Given the description of an element on the screen output the (x, y) to click on. 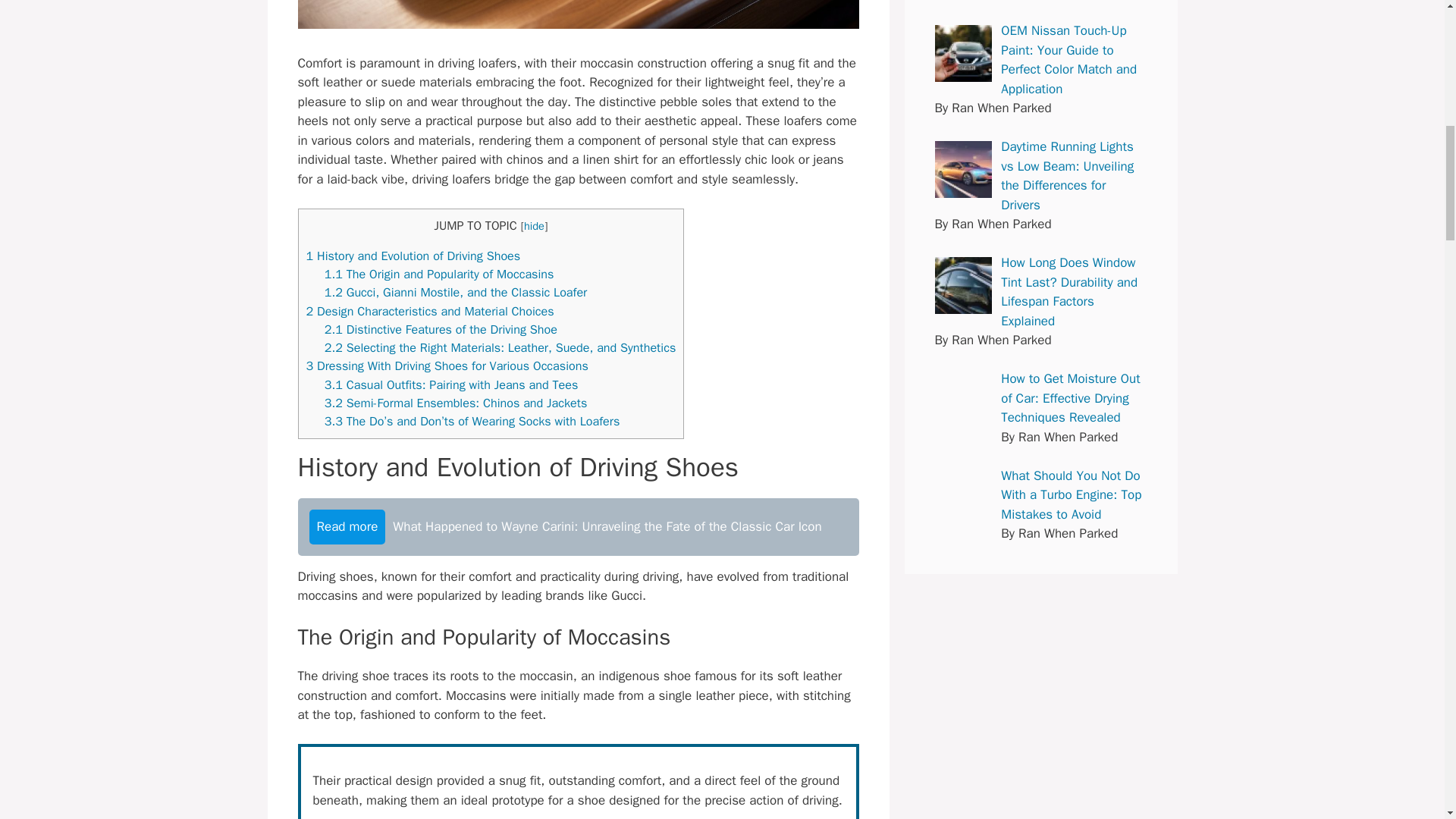
3.2 Semi-Formal Ensembles: Chinos and Jackets (456, 402)
hide (534, 225)
2.1 Distinctive Features of the Driving Shoe (440, 329)
3.1 Casual Outfits: Pairing with Jeans and Tees (451, 384)
2 Design Characteristics and Material Choices (429, 311)
1.2 Gucci, Gianni Mostile, and the Classic Loafer (456, 292)
1.1 The Origin and Popularity of Moccasins (439, 273)
3 Dressing With Driving Shoes for Various Occasions (446, 365)
